Given the description of an element on the screen output the (x, y) to click on. 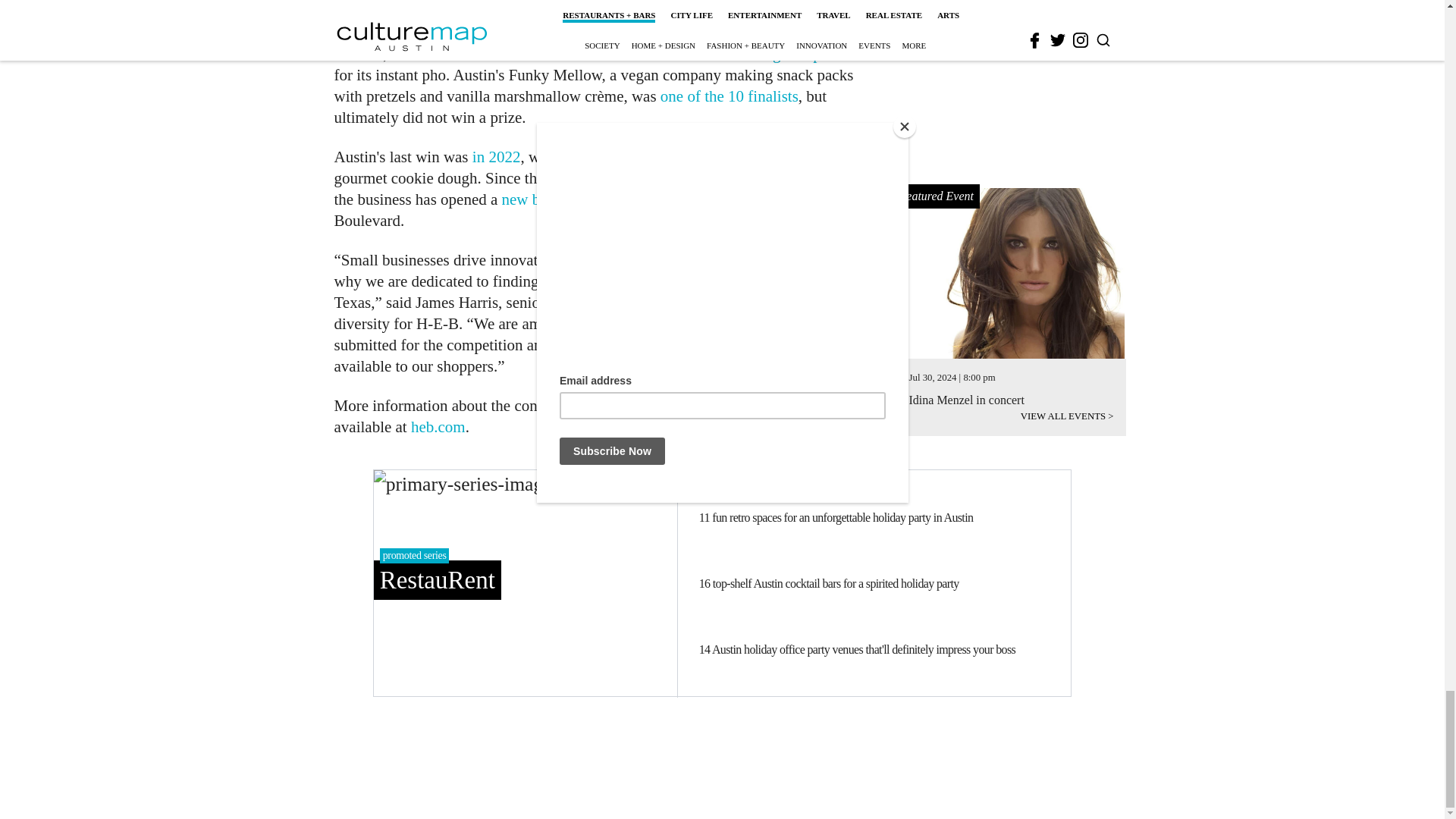
primary-link (525, 583)
